Given the description of an element on the screen output the (x, y) to click on. 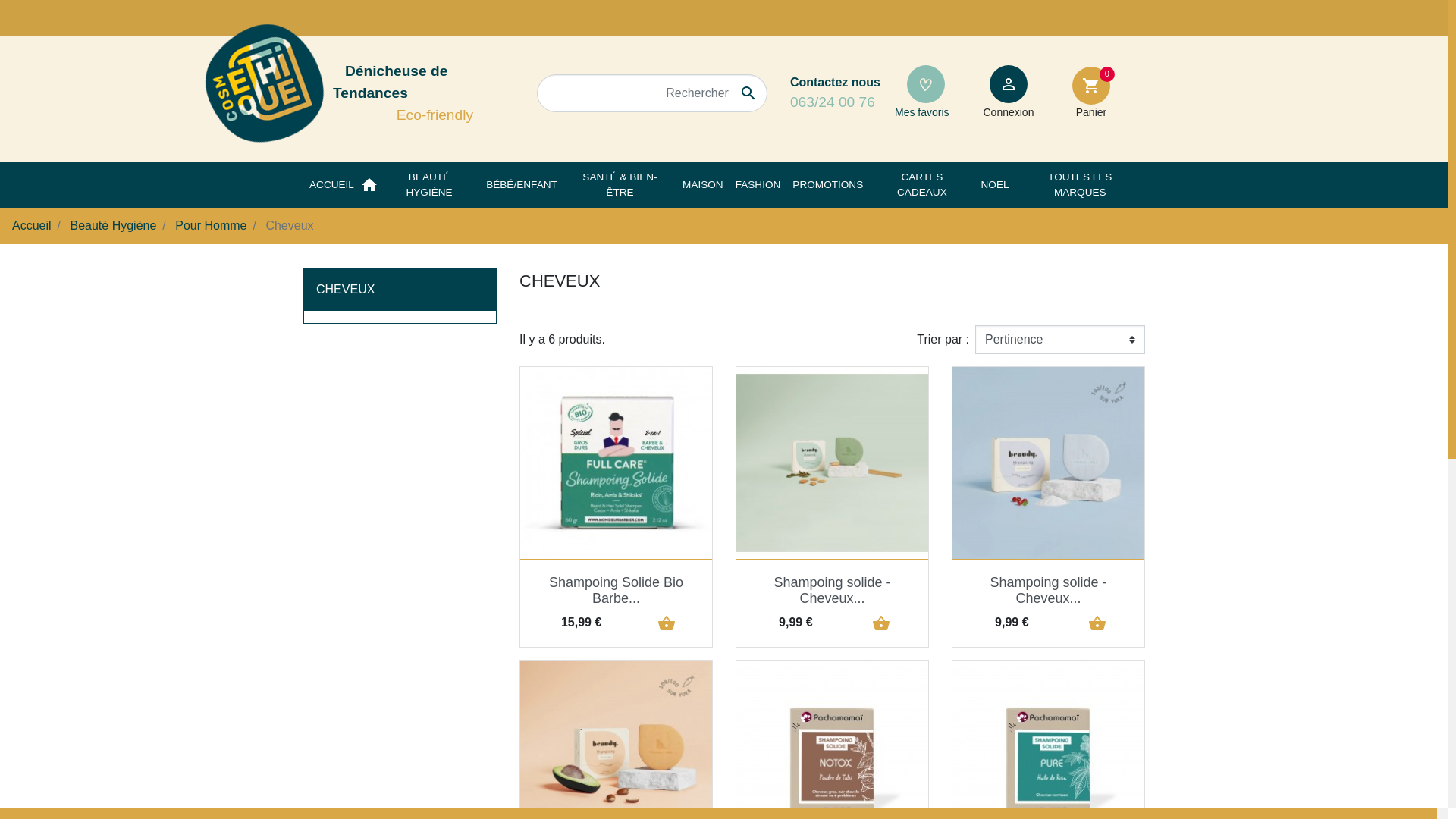
PROMOTIONS Element type: text (827, 184)
shopping_basket Element type: text (661, 622)
Shampoing solide - Cheveux... Element type: text (1047, 590)
Shampoing solide - Cheveux... Element type: text (831, 590)
MAISON Element type: text (702, 184)
Accueil Element type: text (31, 225)
NOEL Element type: text (995, 184)
CHEVEUX Element type: text (345, 288)
CARTES CADEAUX Element type: text (921, 184)
Pour Homme Element type: text (210, 225)
Contactez nous
063/24 00 76 Element type: text (835, 93)
ACCUEIL Element type: text (331, 184)
Mes favoris Element type: text (925, 91)
FASHION Element type: text (758, 184)
TOUTES LES MARQUES Element type: text (1080, 184)
Shampoing Solide Bio Barbe... Element type: text (616, 590)
shopping_basket Element type: text (876, 622)
shopping_basket Element type: text (1092, 622)
